Given the description of an element on the screen output the (x, y) to click on. 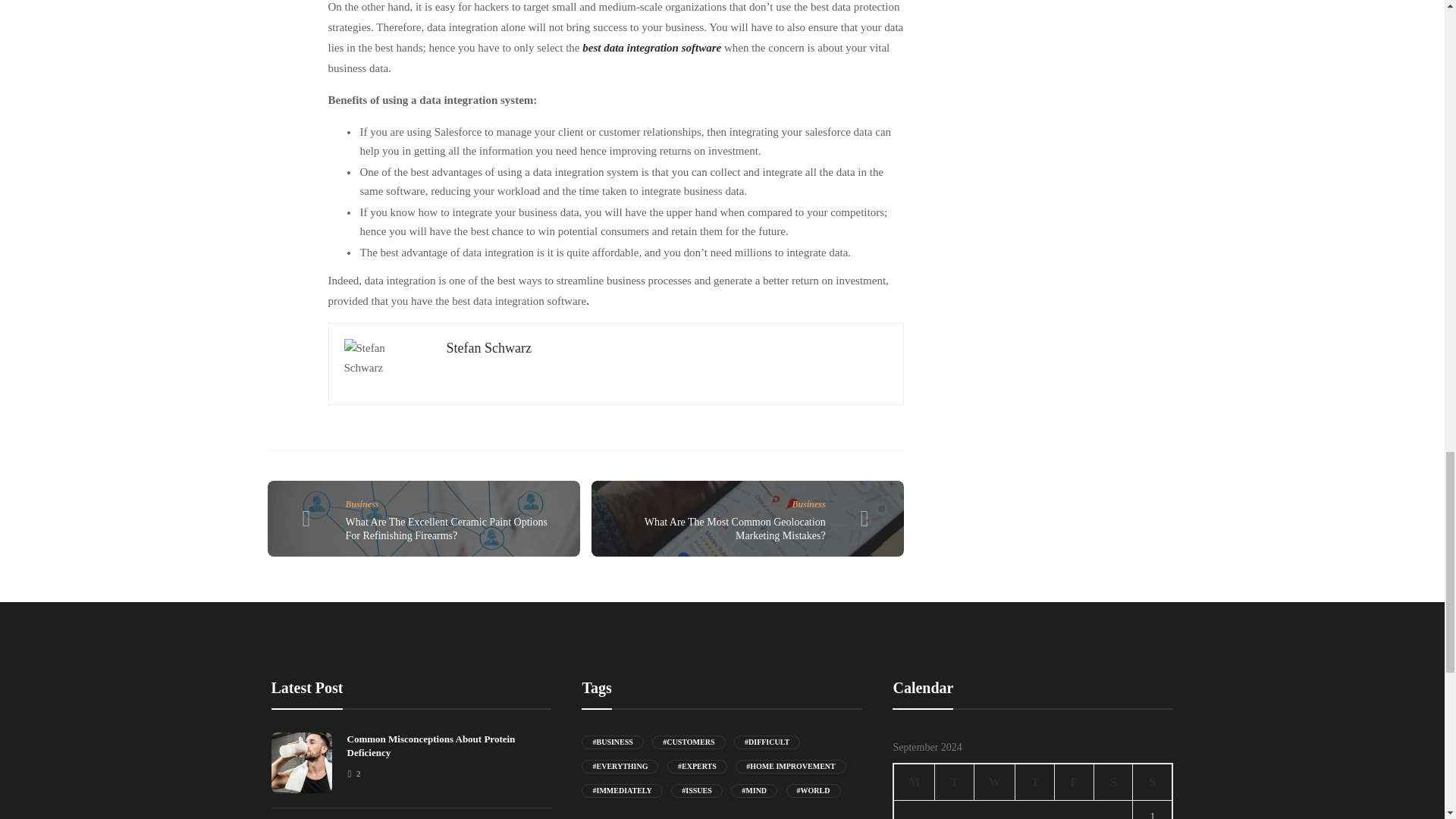
Saturday (1112, 781)
Wednesday (994, 781)
Tuesday (954, 781)
Friday (1074, 781)
Sunday (1152, 781)
Monday (913, 781)
Thursday (1034, 781)
